Given the description of an element on the screen output the (x, y) to click on. 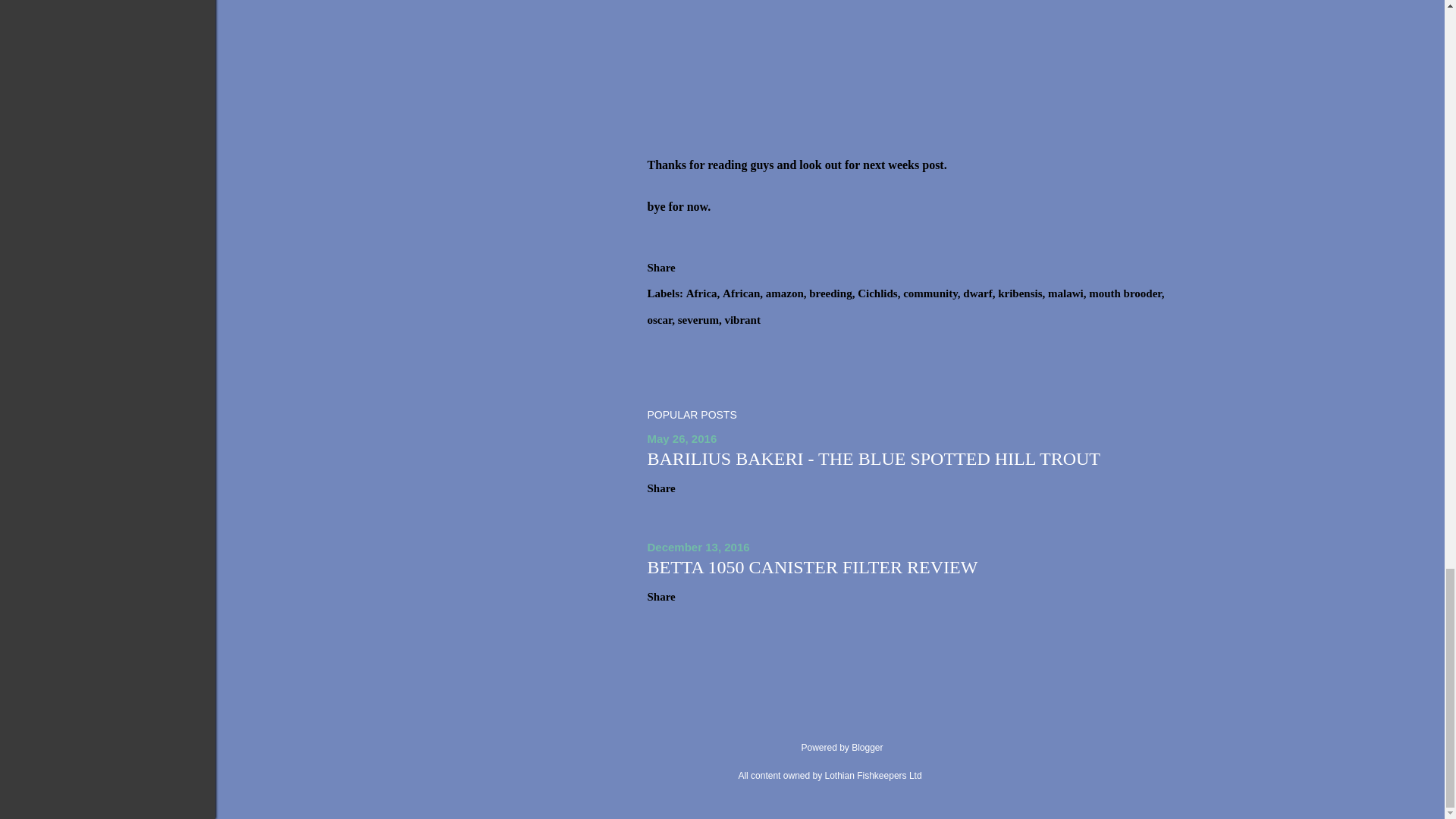
oscar (661, 319)
malawi (1067, 293)
permanent link (682, 438)
mouth brooder (1126, 293)
breeding (831, 293)
kribensis (1021, 293)
African (742, 293)
amazon (785, 293)
Share (661, 267)
community (930, 293)
dwarf (978, 293)
Cichlids (878, 293)
Africa (702, 293)
